Given the description of an element on the screen output the (x, y) to click on. 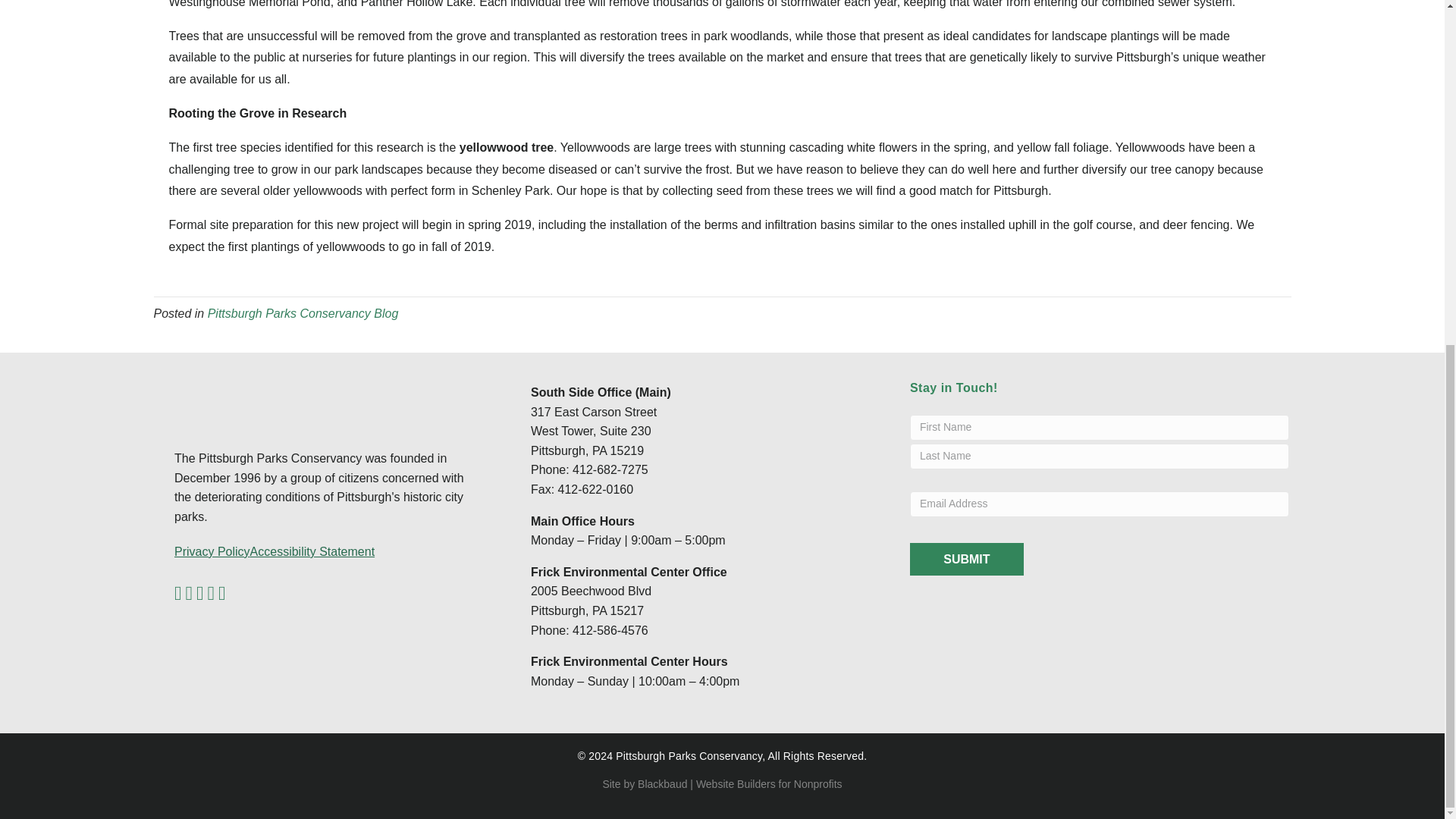
Submit (966, 558)
Email Address (1099, 503)
PPC Logo Horizontal Cropped (250, 398)
First Name (1099, 427)
Last Name (1099, 456)
